Given the description of an element on the screen output the (x, y) to click on. 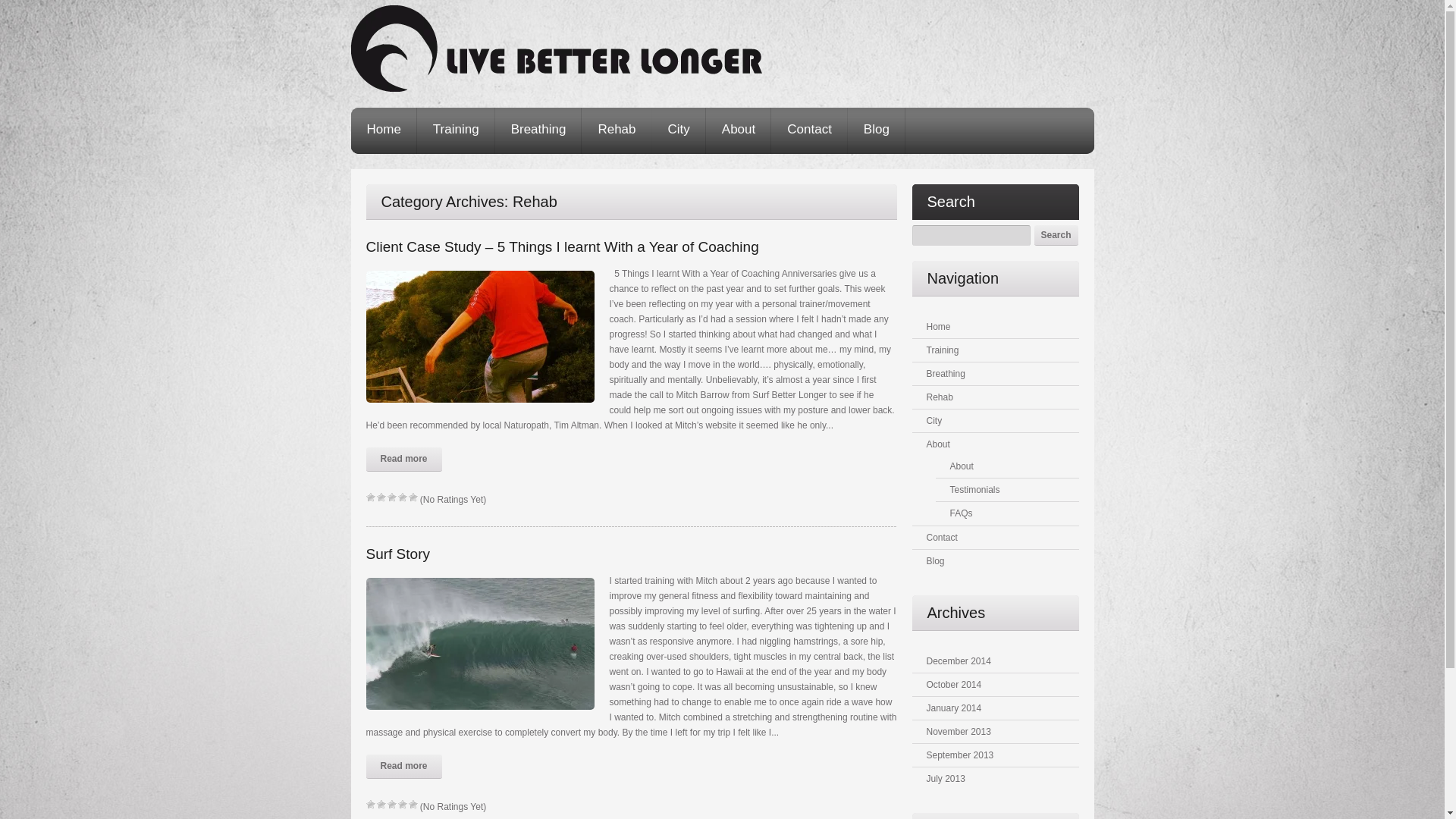
About Element type: text (960, 466)
Training Element type: text (456, 130)
Home Element type: text (383, 130)
Testimonials Element type: text (974, 489)
Blog Element type: text (876, 130)
July 2013 Element type: text (945, 778)
4 Stars Element type: hover (401, 804)
December 2014 Element type: text (958, 660)
Breathing Element type: text (538, 130)
4 Stars Element type: hover (401, 497)
About Element type: text (938, 444)
1 Star Element type: hover (369, 497)
Breathing Element type: text (945, 373)
About Element type: text (738, 130)
3 Stars Element type: hover (390, 497)
City Element type: text (679, 130)
Training Element type: text (942, 350)
2 Stars Element type: hover (380, 804)
Contact Element type: text (941, 537)
Search Element type: text (1056, 235)
2 Stars Element type: hover (380, 497)
1 Star Element type: hover (369, 804)
Blog Element type: text (935, 560)
Read more Element type: text (403, 459)
3 Stars Element type: hover (390, 804)
Rehab Element type: text (616, 130)
Read more Element type: text (403, 766)
Home Element type: text (938, 326)
Rehab Element type: text (939, 397)
Improving & Prolonging Surfing Lives Element type: hover (555, 48)
5 Stars Element type: hover (412, 804)
City Element type: text (934, 420)
FAQs Element type: text (960, 513)
November 2013 Element type: text (958, 731)
January 2014 Element type: text (954, 707)
Contact Element type: text (809, 130)
Surf Story Element type: text (397, 553)
September 2013 Element type: text (960, 754)
5 Stars Element type: hover (412, 497)
October 2014 Element type: text (954, 684)
